Given the description of an element on the screen output the (x, y) to click on. 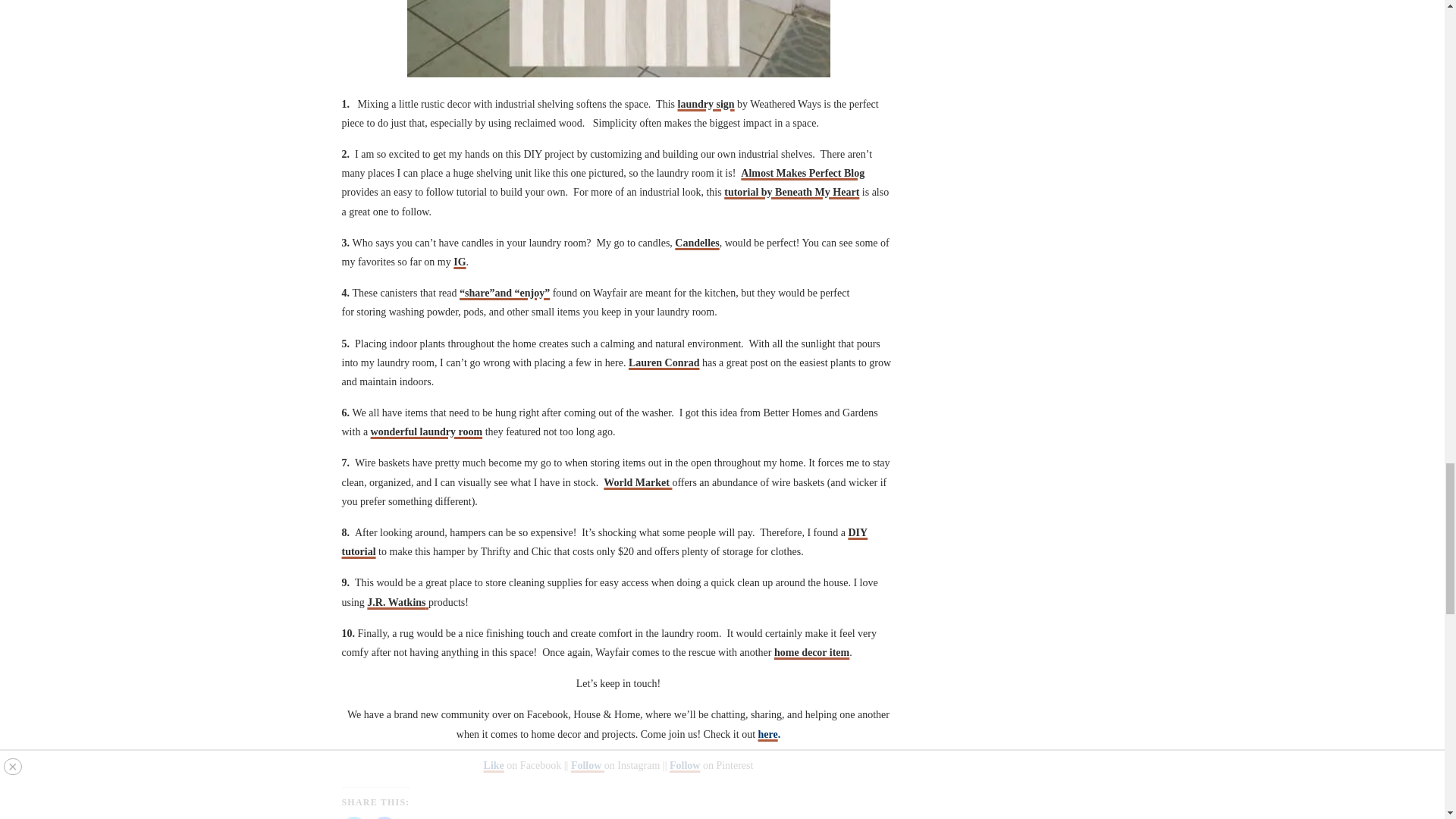
Almost Makes Perfect Blog (802, 173)
Click to share on Facebook (383, 817)
tutorial by Beneath My Heart (791, 192)
Candelles (697, 242)
IG (458, 261)
Click to share on Twitter (352, 817)
laundry sign (706, 103)
